Given the description of an element on the screen output the (x, y) to click on. 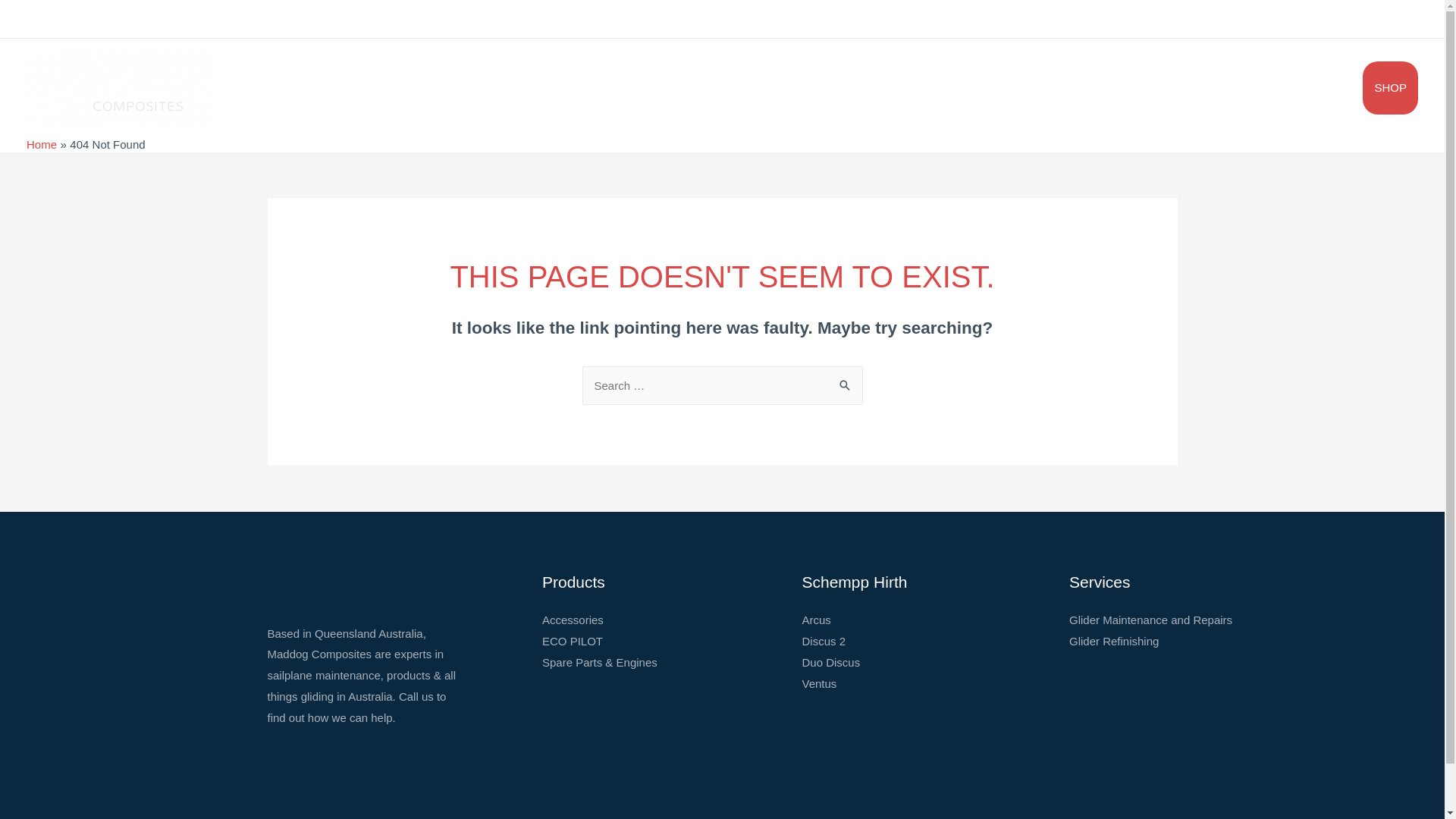
ECO PILOT Element type: text (572, 640)
Classifieds Element type: text (1262, 86)
Home Element type: text (784, 86)
Services Element type: text (1182, 86)
Glider Maintenance and Repairs Element type: text (1150, 619)
Glider Refinishing Element type: text (1113, 640)
Accessories Element type: text (572, 619)
Arcus Element type: text (816, 619)
VL3 Element type: text (1038, 86)
Home Element type: text (41, 144)
Schempp Hirth Sailplanes Element type: text (940, 86)
Search Element type: text (845, 381)
About Element type: text (837, 86)
Ventus Element type: text (819, 683)
Spare Parts & Engines Element type: text (599, 661)
Discus 2 Element type: text (824, 640)
Duo Discus Element type: text (831, 661)
Products Element type: text (1101, 86)
Contact Element type: text (1332, 86)
SHOP Element type: text (1390, 86)
